Given the description of an element on the screen output the (x, y) to click on. 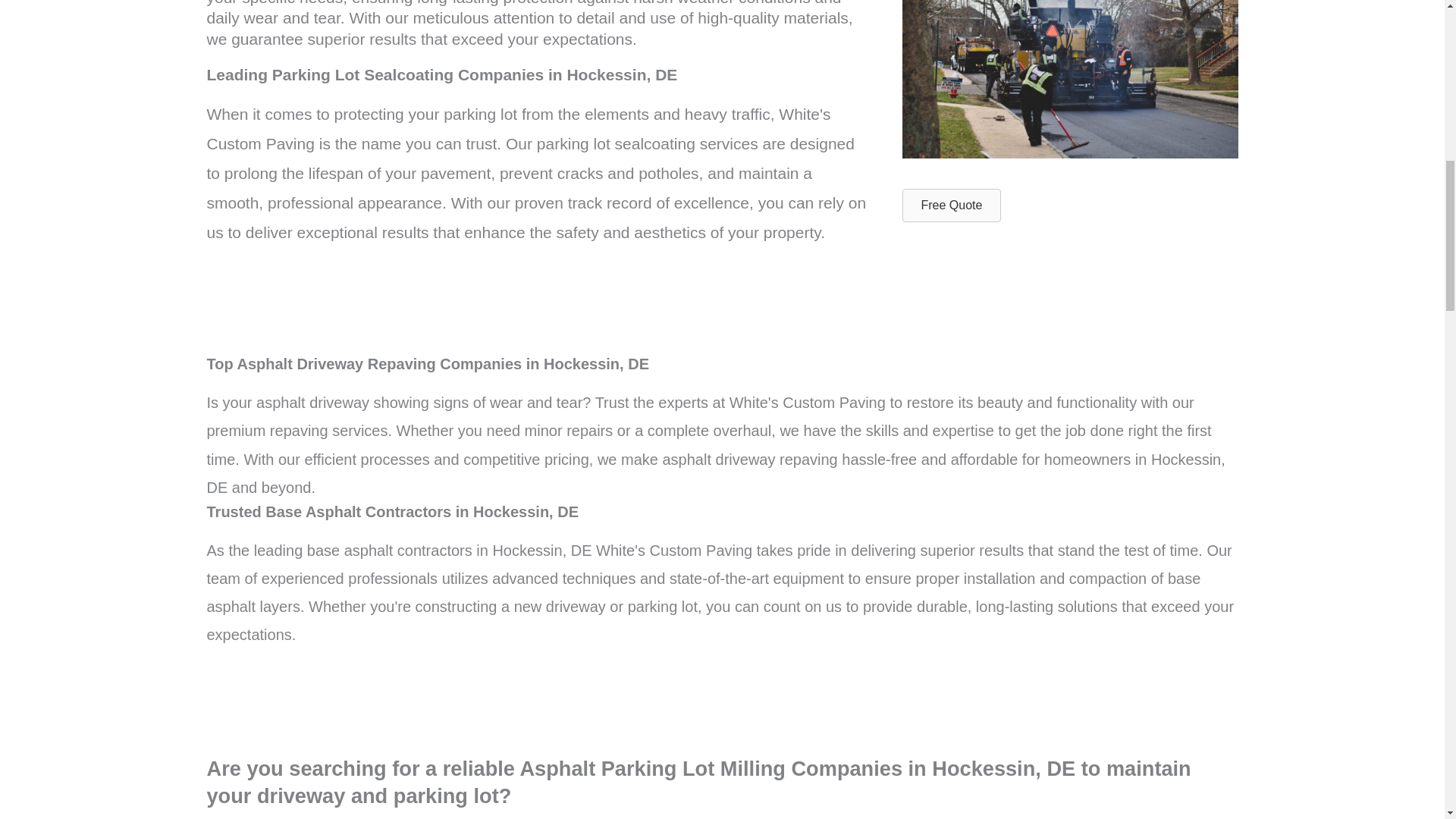
1000176369 (1070, 79)
